Given the description of an element on the screen output the (x, y) to click on. 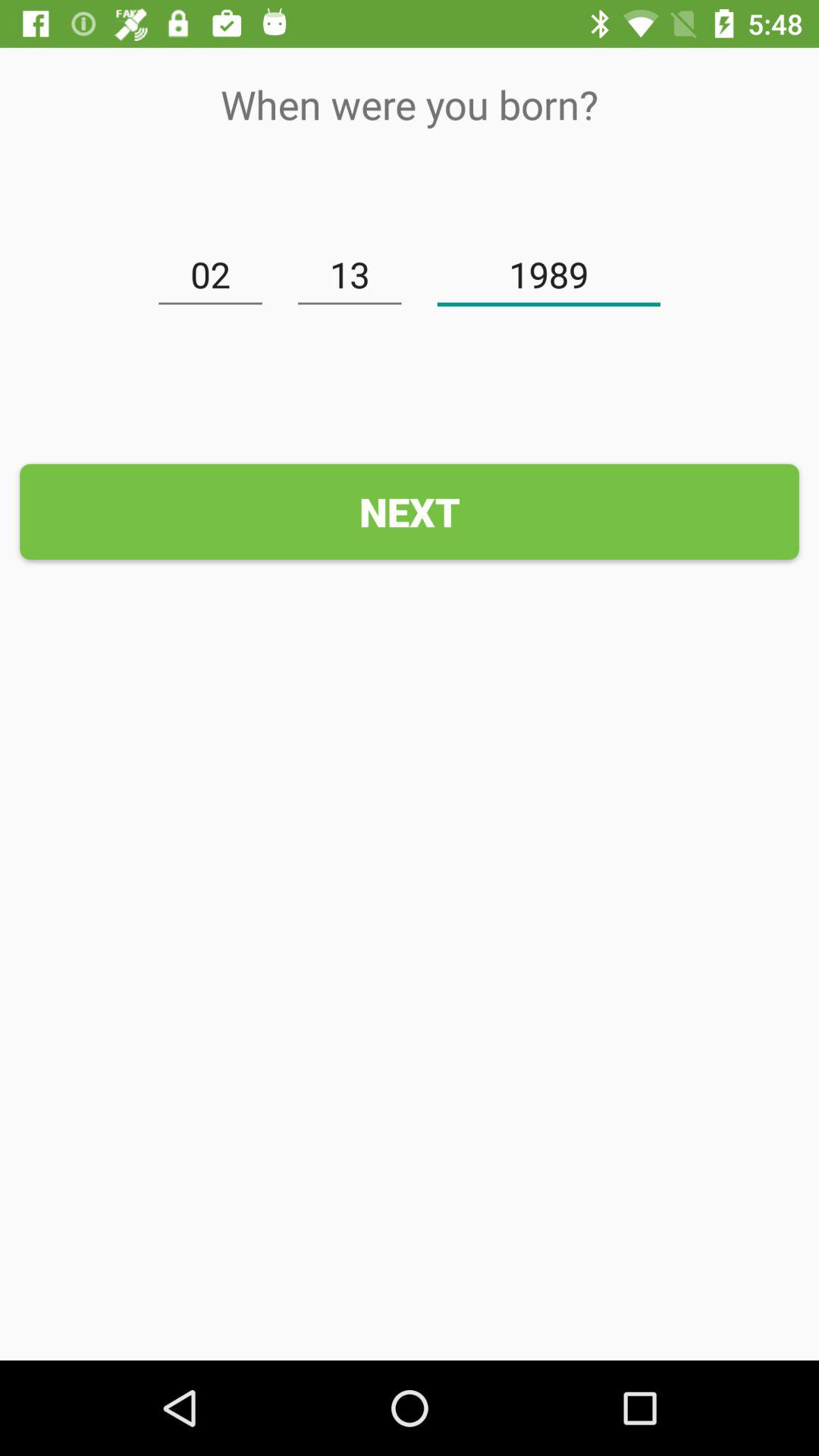
choose icon to the left of the 13 item (210, 275)
